Given the description of an element on the screen output the (x, y) to click on. 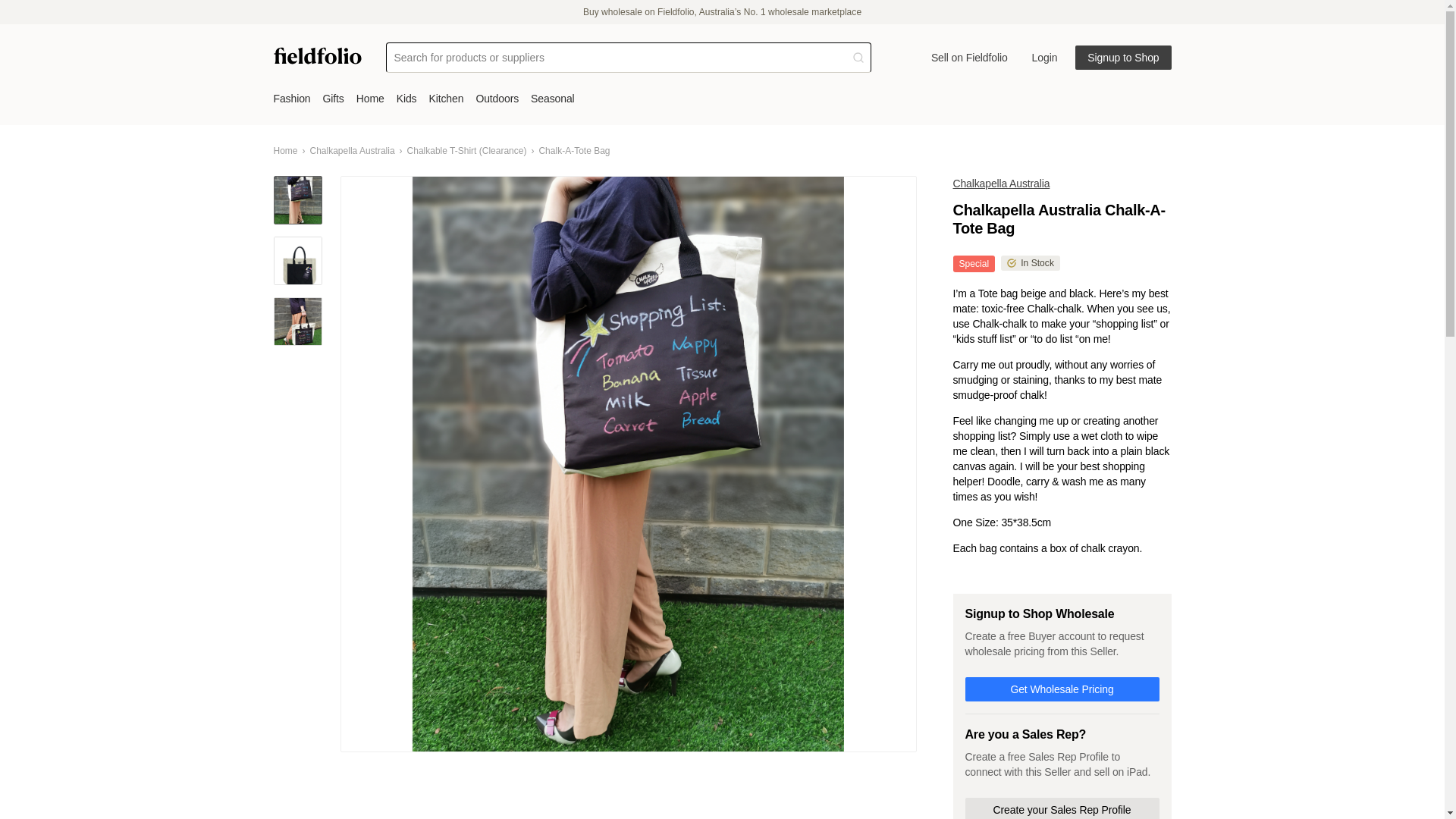
Signup to Shop (1122, 57)
Gifts (339, 98)
Chalkapella Australia (1000, 183)
Get Wholesale Pricing (1060, 689)
Create your Sales Rep Profile (1060, 808)
Home (285, 150)
Kitchen (452, 98)
Home (376, 98)
Kids (412, 98)
Sell on Fieldfolio (968, 57)
Seasonal (558, 98)
Outdoors (503, 98)
Fashion (297, 98)
Chalkapella Australia (352, 150)
Login (1045, 57)
